Given the description of an element on the screen output the (x, y) to click on. 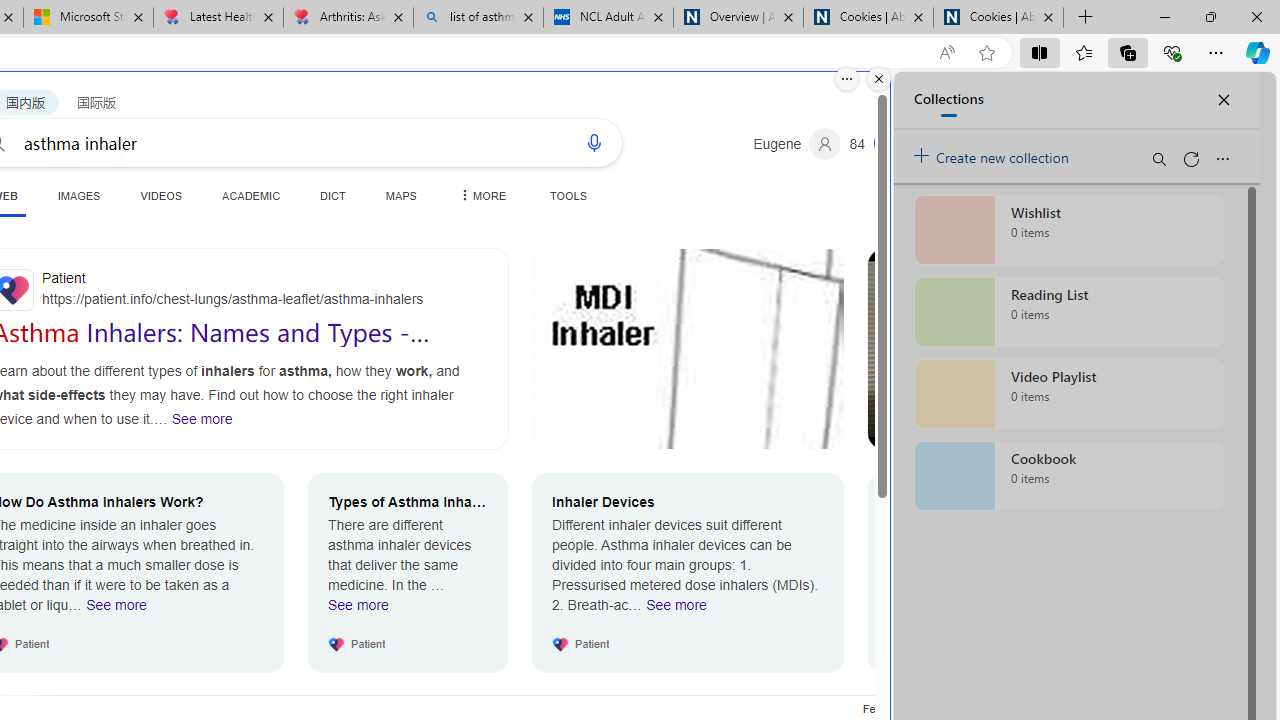
Close split screen. (878, 79)
More options. (846, 79)
Eugene (797, 143)
MAPS (400, 195)
DICT (333, 195)
